Given the description of an element on the screen output the (x, y) to click on. 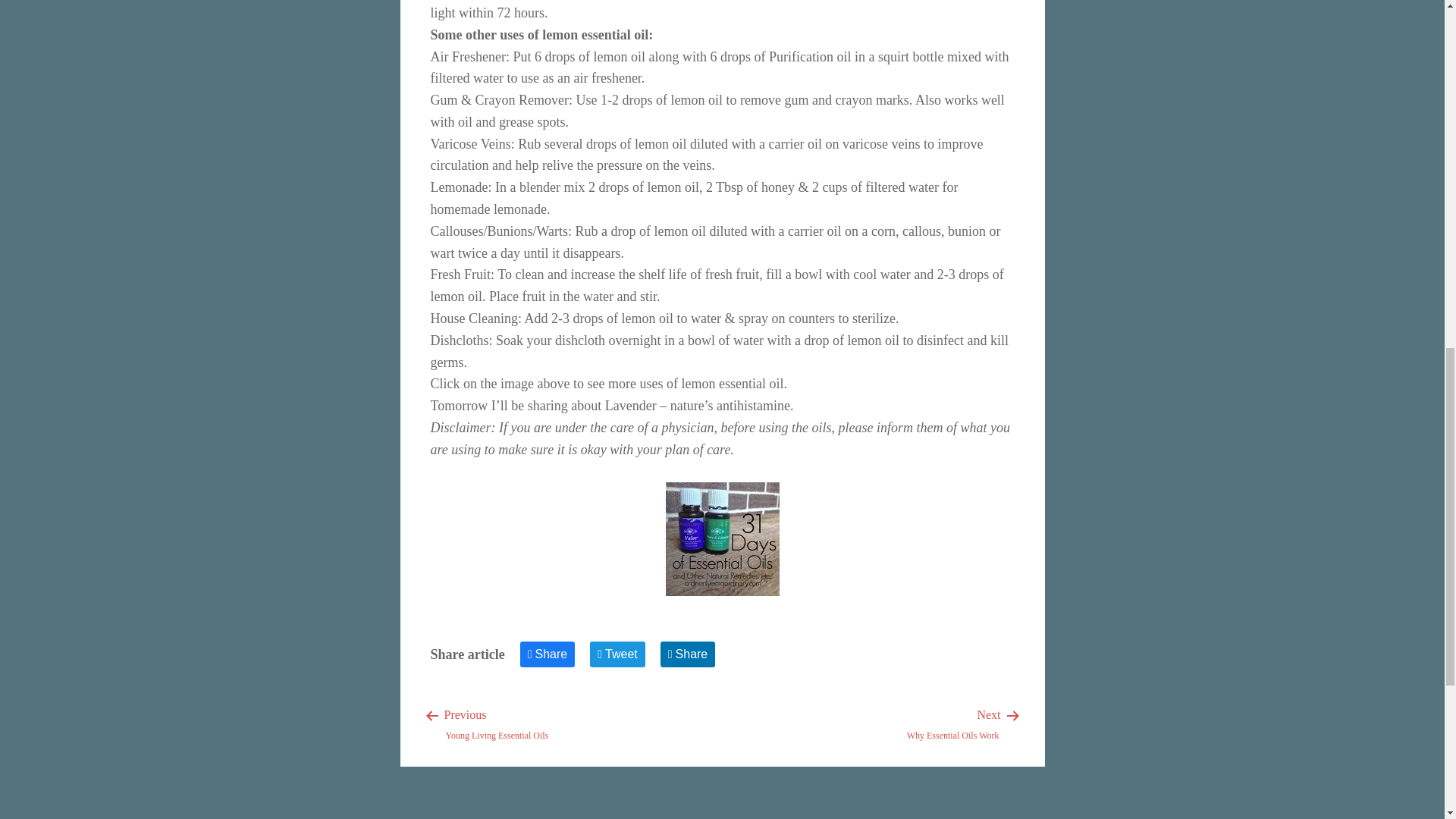
Share (688, 654)
Tweet (952, 724)
Share (497, 724)
